Given the description of an element on the screen output the (x, y) to click on. 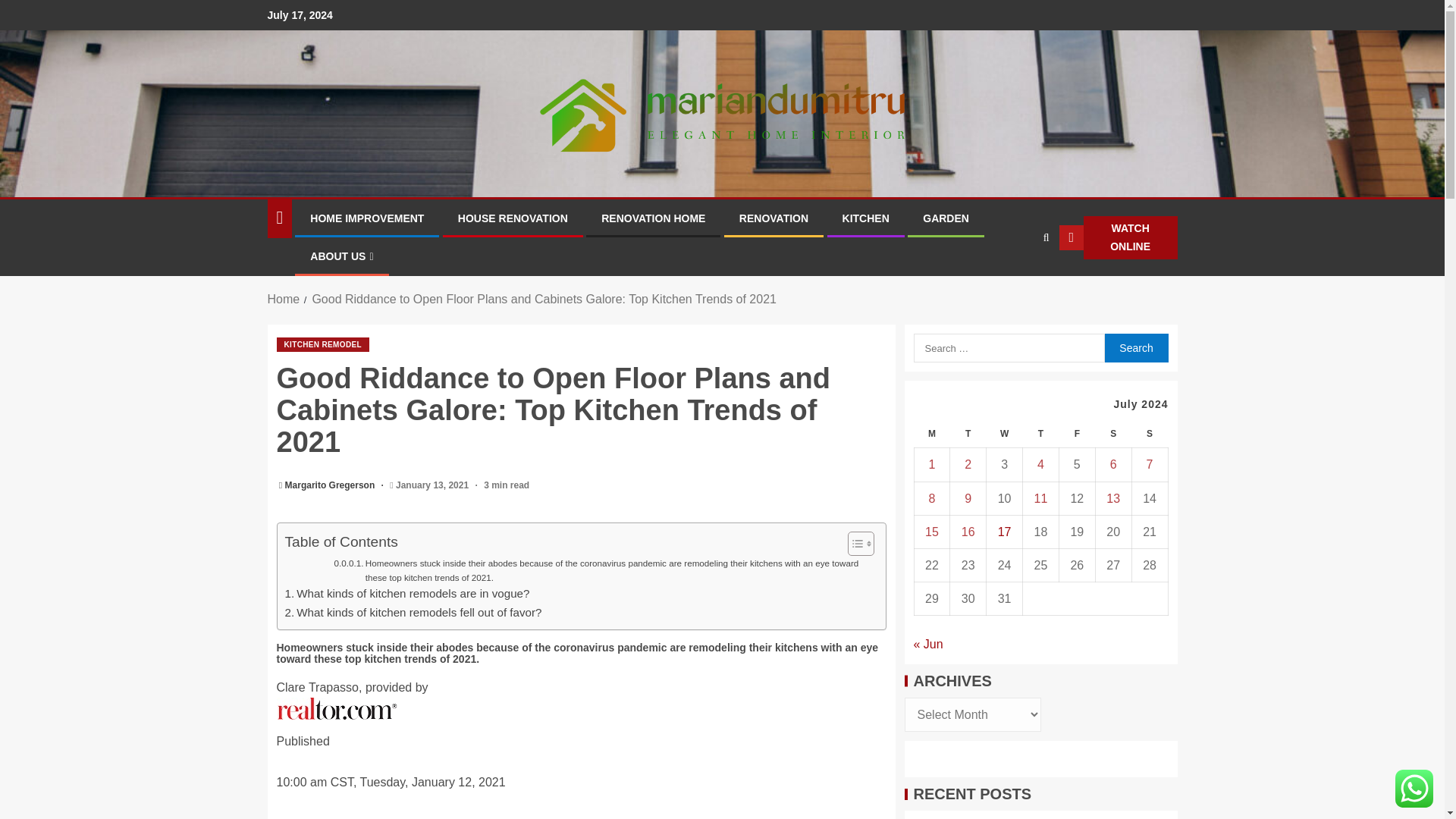
Sunday (1149, 433)
KITCHEN (866, 218)
HOUSE RENOVATION (512, 218)
Search (1015, 284)
KITCHEN REMODEL (322, 344)
HOME IMPROVEMENT (366, 218)
Wednesday (1005, 433)
Search (1135, 347)
Margarito Gregerson (331, 484)
Saturday (1112, 433)
ABOUT US (341, 256)
Search (1045, 237)
What kinds of kitchen remodels are in vogue? (407, 593)
